Given the description of an element on the screen output the (x, y) to click on. 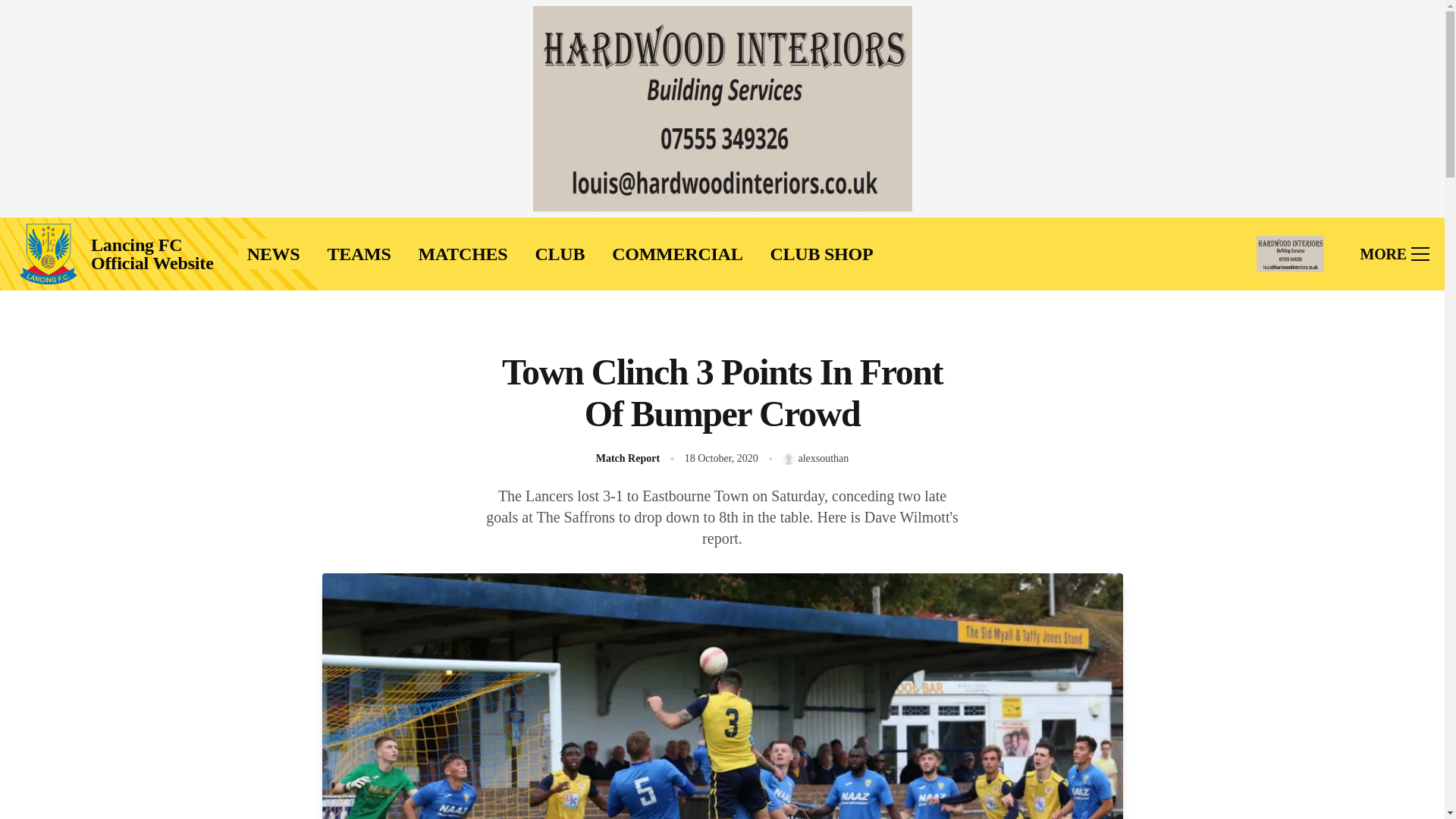
NEWS (273, 254)
MATCHES (462, 254)
CLUB (559, 254)
COMMERCIAL (676, 254)
CLUB SHOP (821, 254)
TEAMS (357, 254)
